Given the description of an element on the screen output the (x, y) to click on. 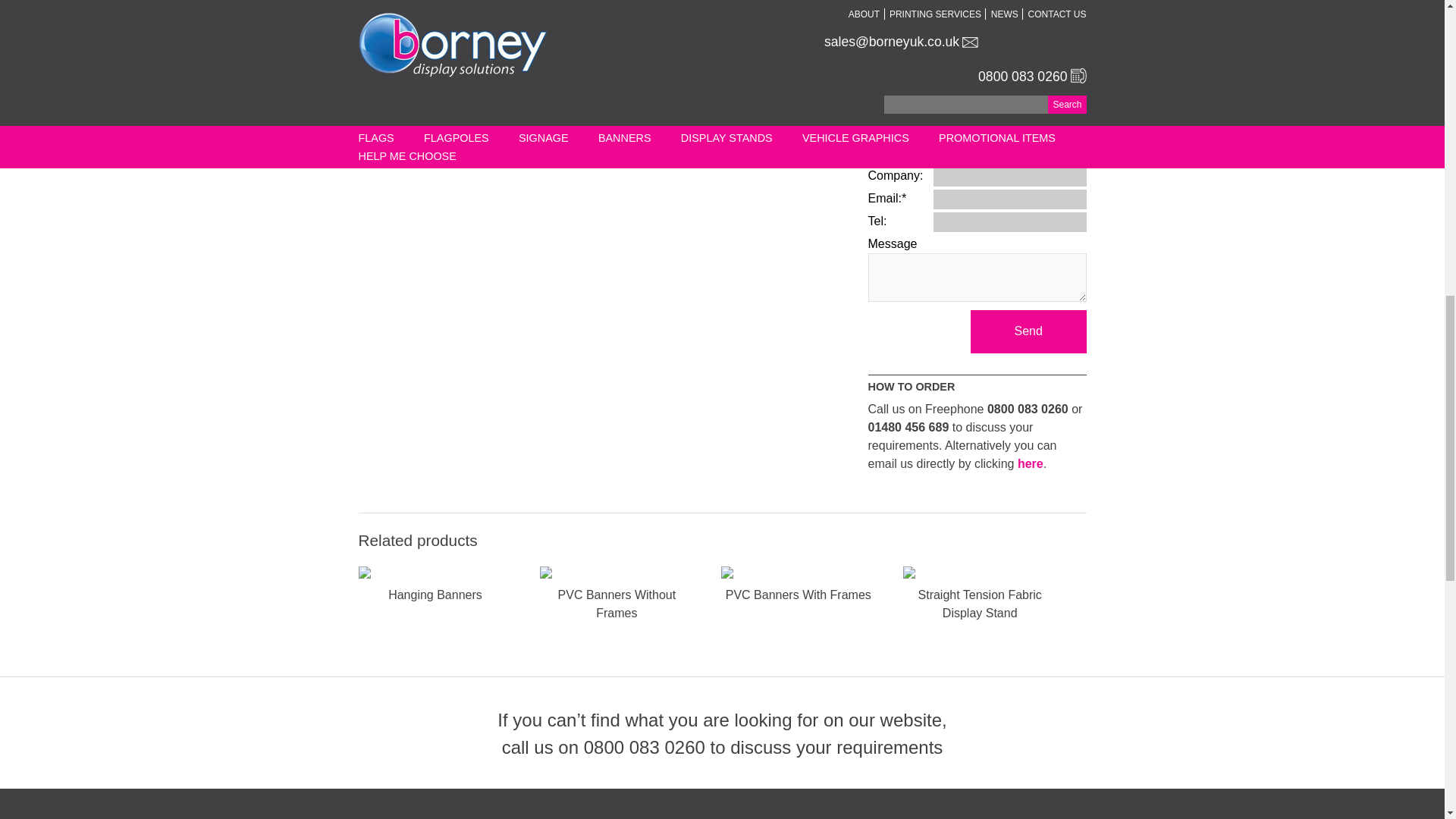
Send (1028, 331)
